Given the description of an element on the screen output the (x, y) to click on. 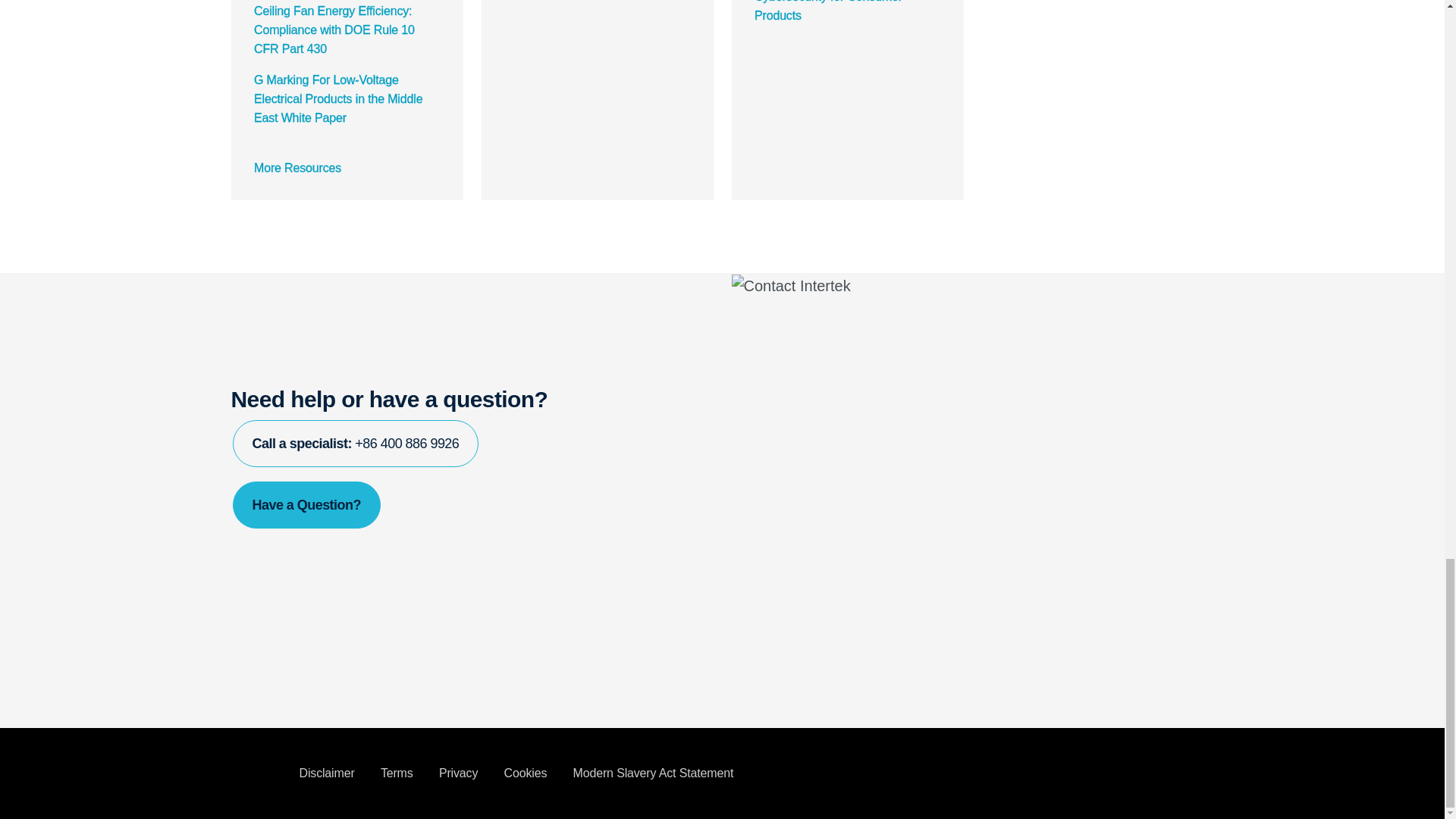
Phone (355, 443)
Intertek Intertek Brand Roundel Logo (253, 773)
